Given the description of an element on the screen output the (x, y) to click on. 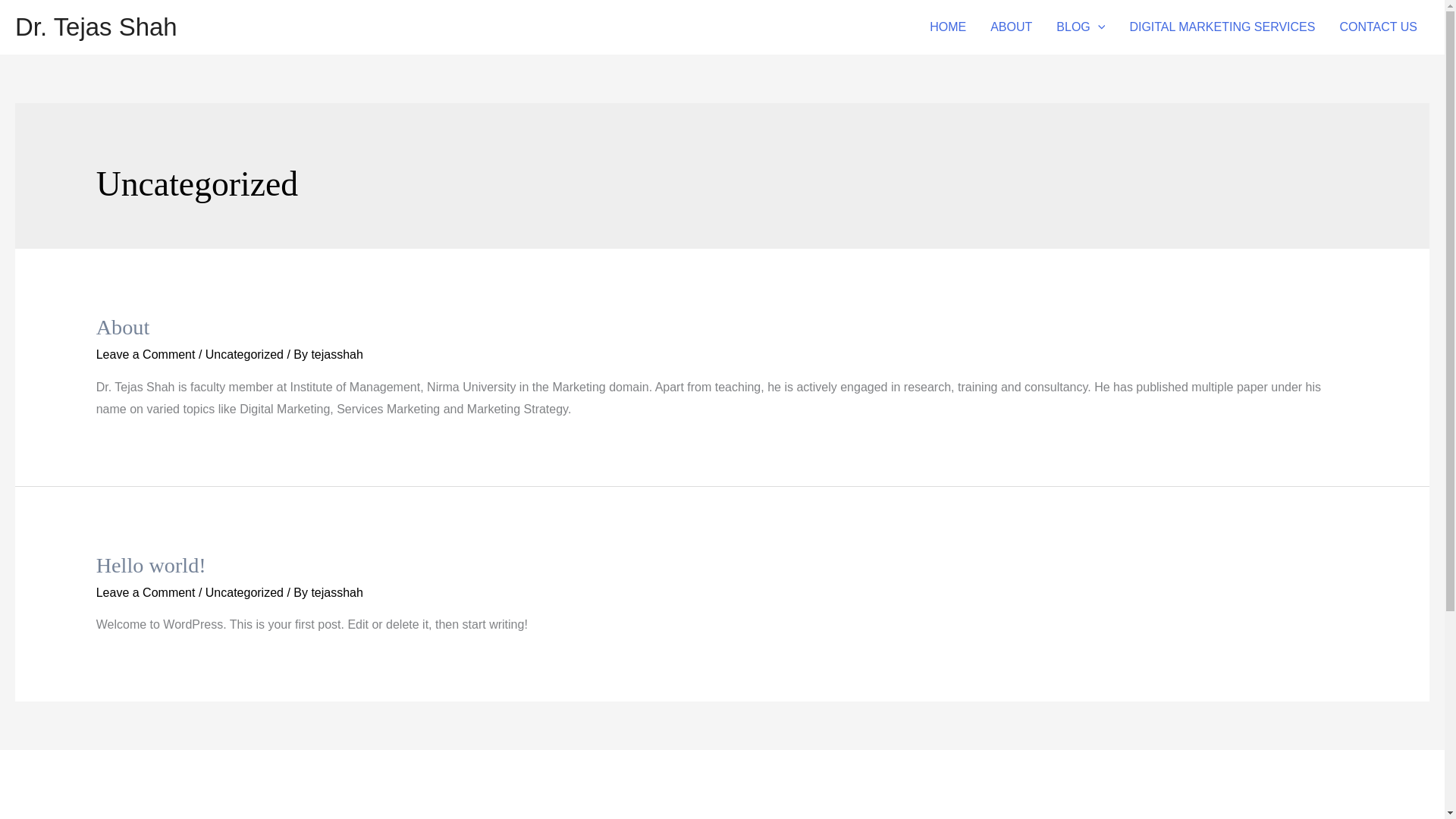
Hello world! (151, 565)
Uncategorized (244, 592)
View all posts by tejasshah (336, 354)
DIGITAL MARKETING SERVICES (1221, 27)
Leave a Comment (145, 592)
ABOUT (1010, 27)
About (122, 327)
CONTACT US (1377, 27)
tejasshah (336, 592)
View all posts by tejasshah (336, 592)
